Given the description of an element on the screen output the (x, y) to click on. 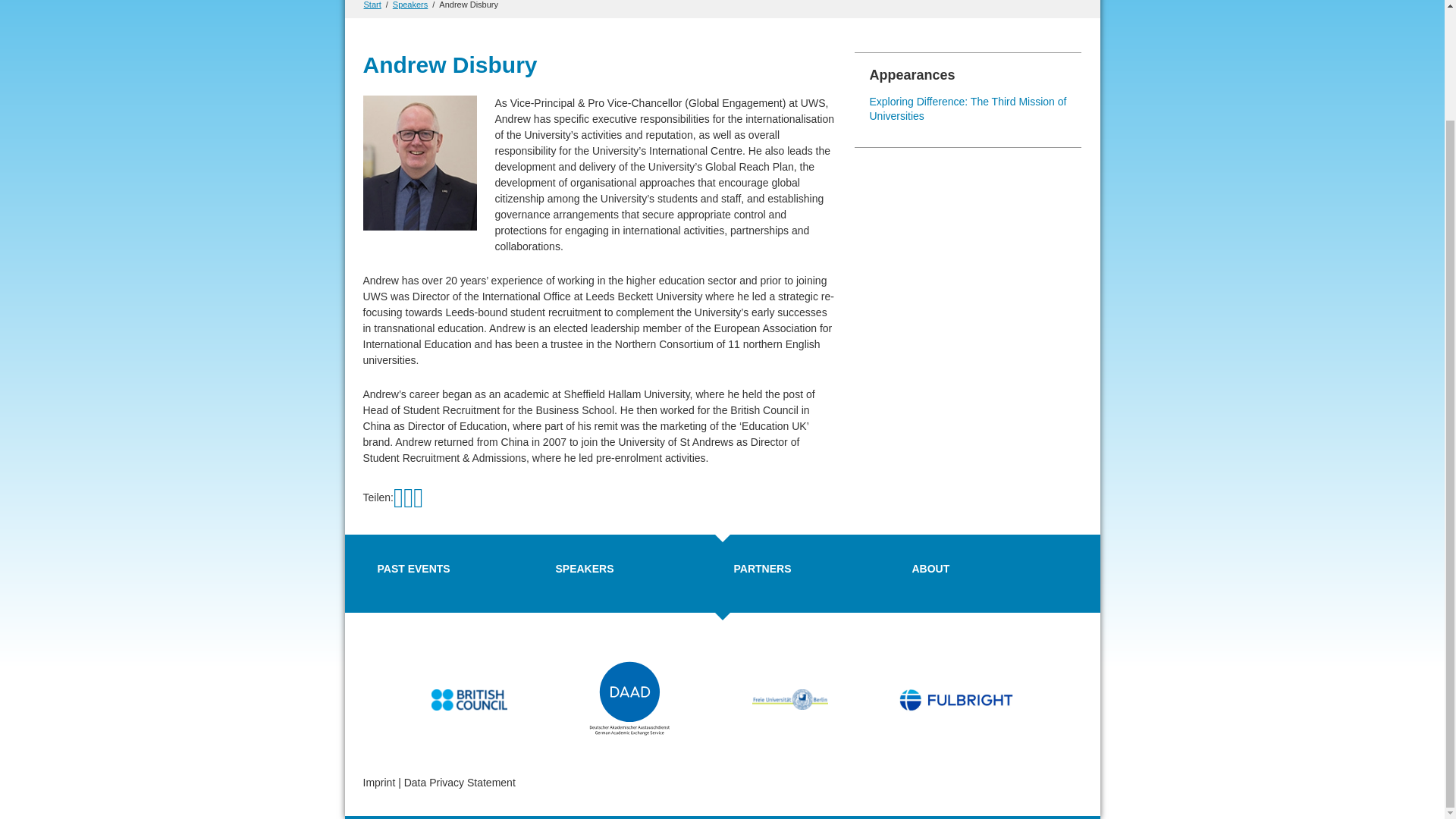
Start (372, 4)
Imprint (378, 782)
Speakers (410, 4)
Andrew Disbury (468, 4)
Data Privacy Statement (459, 782)
SPEAKERS (583, 568)
PAST EVENTS (413, 568)
ABOUT (930, 568)
PARTNERS (762, 568)
Exploring Difference: The Third Mission of Universities (967, 108)
